Given the description of an element on the screen output the (x, y) to click on. 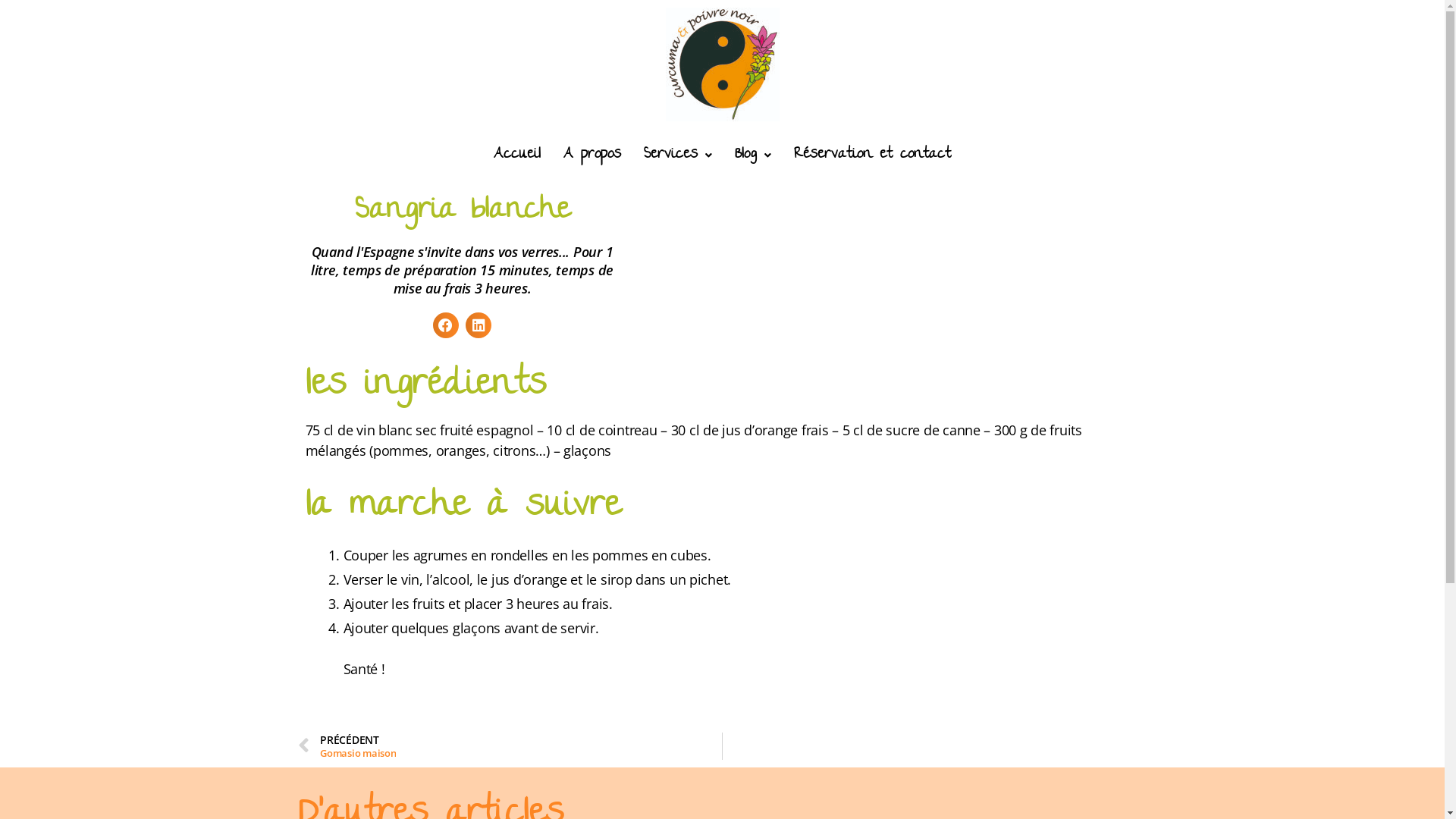
A propos Element type: text (592, 155)
Blog Element type: text (752, 155)
Services Element type: text (677, 155)
Accueil Element type: text (517, 155)
